Given the description of an element on the screen output the (x, y) to click on. 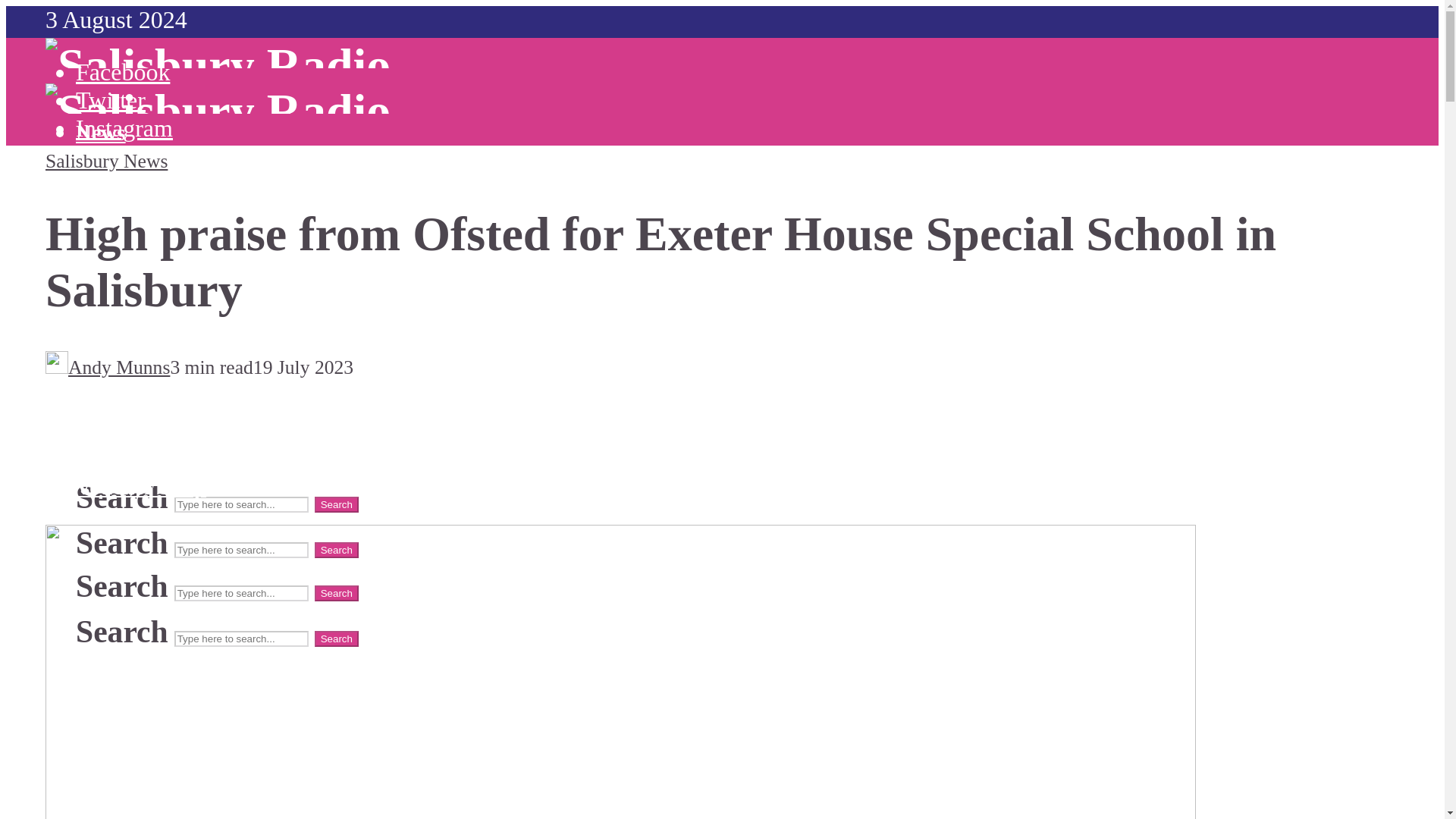
Join Us (141, 300)
How to Listen (171, 318)
Radio (103, 188)
Instagram (124, 127)
On-Air Schedule (184, 244)
Free Film Friday (155, 458)
Spin to Win! (134, 206)
News (100, 178)
Lifestyle (118, 236)
Voucher Shop (140, 486)
Advertise with us (186, 374)
About (105, 180)
Twitter (110, 99)
Podcasts (146, 262)
How to Listen (171, 273)
